Given the description of an element on the screen output the (x, y) to click on. 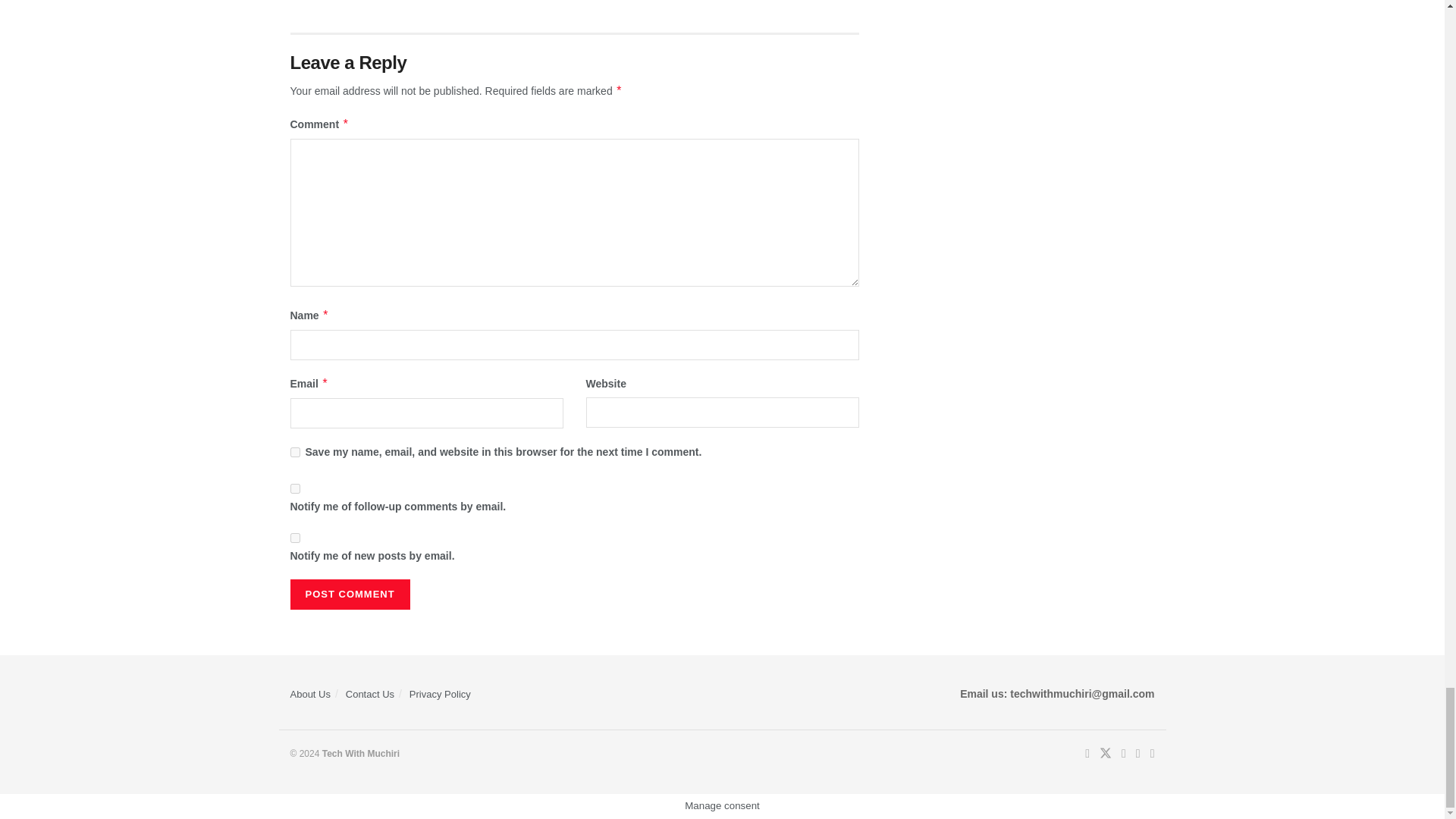
Post Comment (349, 594)
subscribe (294, 488)
subscribe (294, 537)
yes (294, 452)
